Given the description of an element on the screen output the (x, y) to click on. 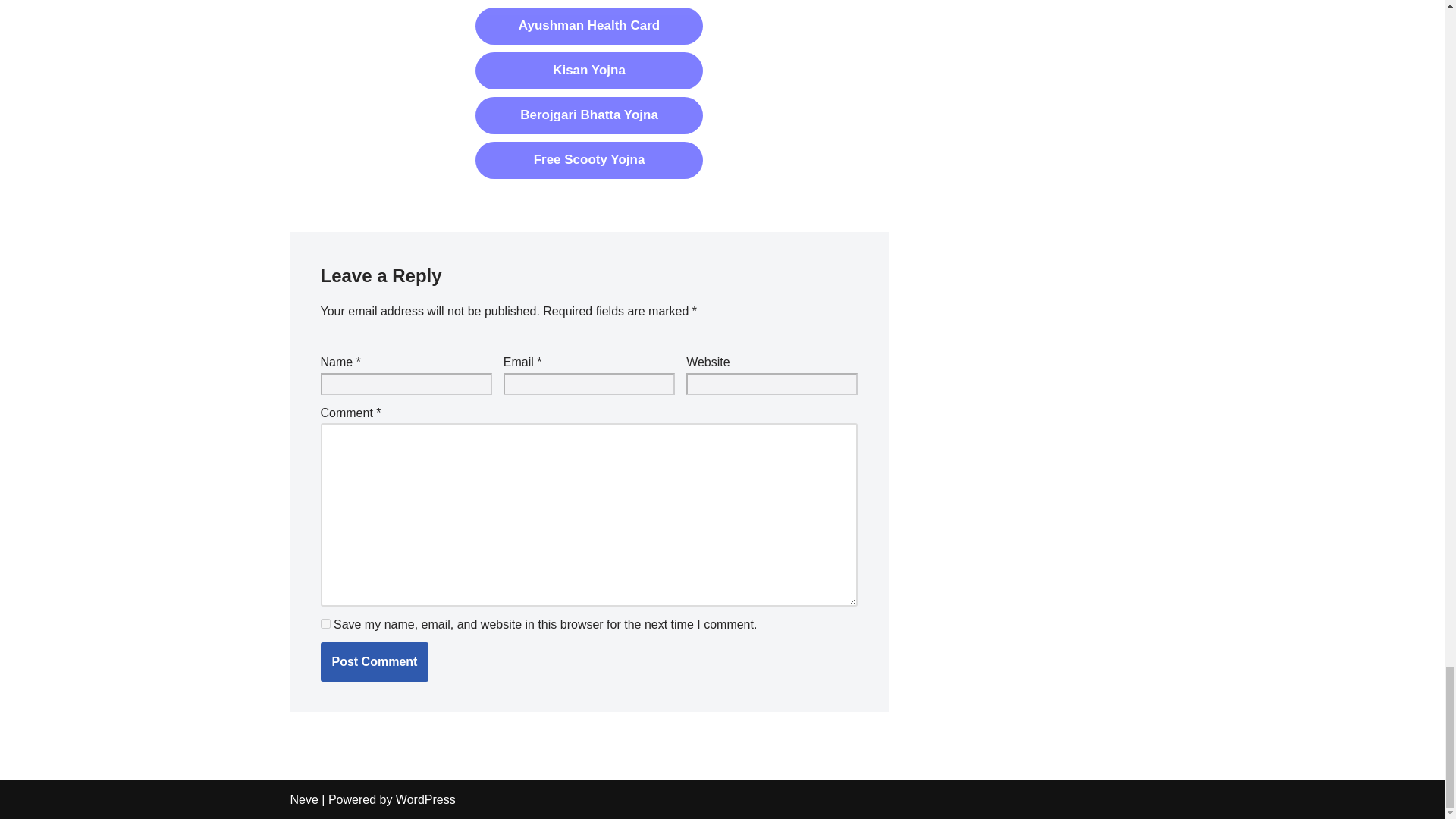
yes (325, 623)
Post Comment (374, 661)
